Given the description of an element on the screen output the (x, y) to click on. 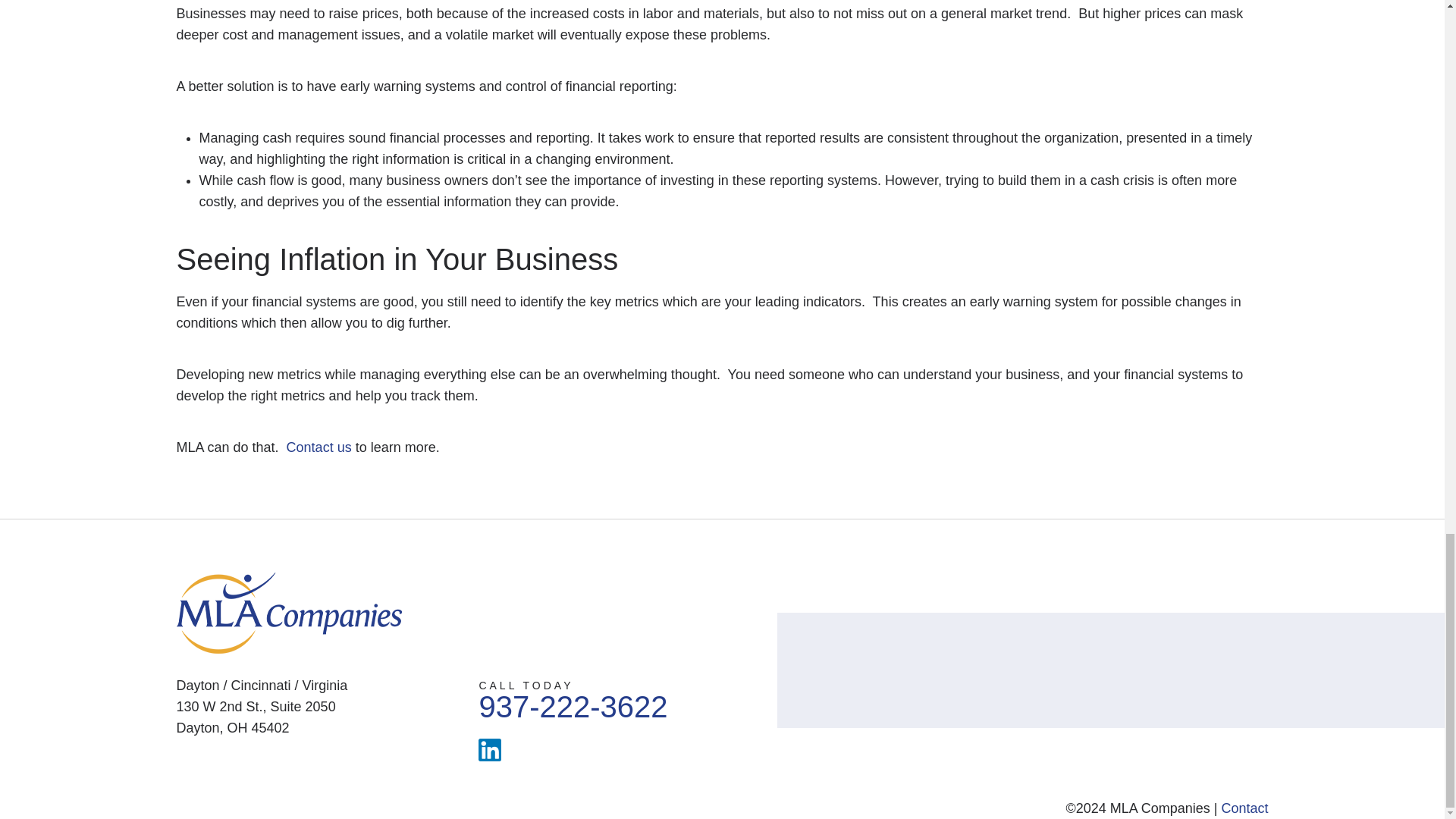
Contact us (572, 695)
Contact (319, 447)
Linkedin (1244, 807)
MLA Companies (489, 749)
